Given the description of an element on the screen output the (x, y) to click on. 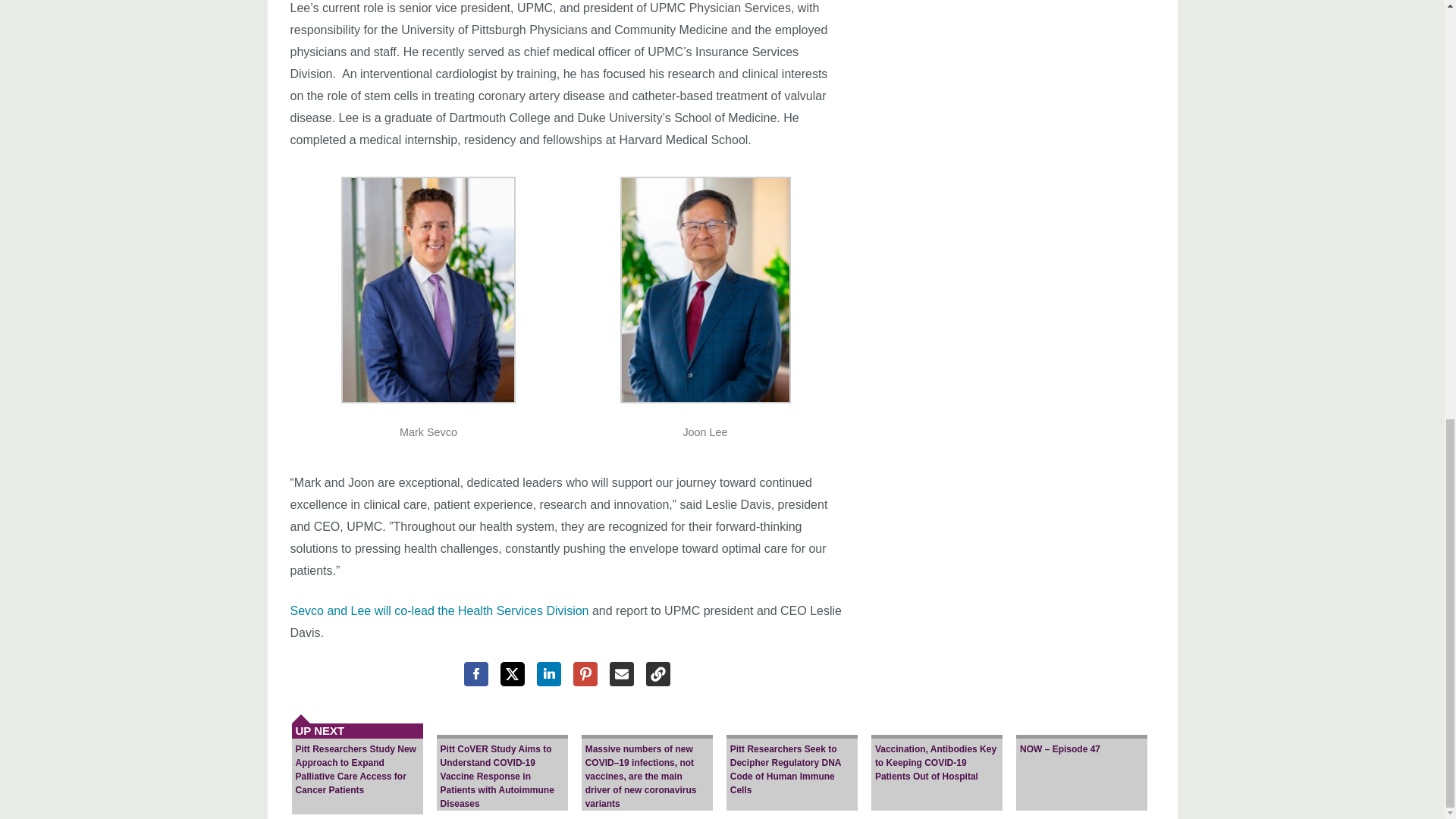
Sevco and Lee will co-lead the Health Services Division (438, 610)
Forward via email (621, 673)
Copy to clipboard (657, 673)
Share on Pinterest (584, 673)
Share on Facebook (475, 673)
Share on LinkedIn (548, 673)
